Given the description of an element on the screen output the (x, y) to click on. 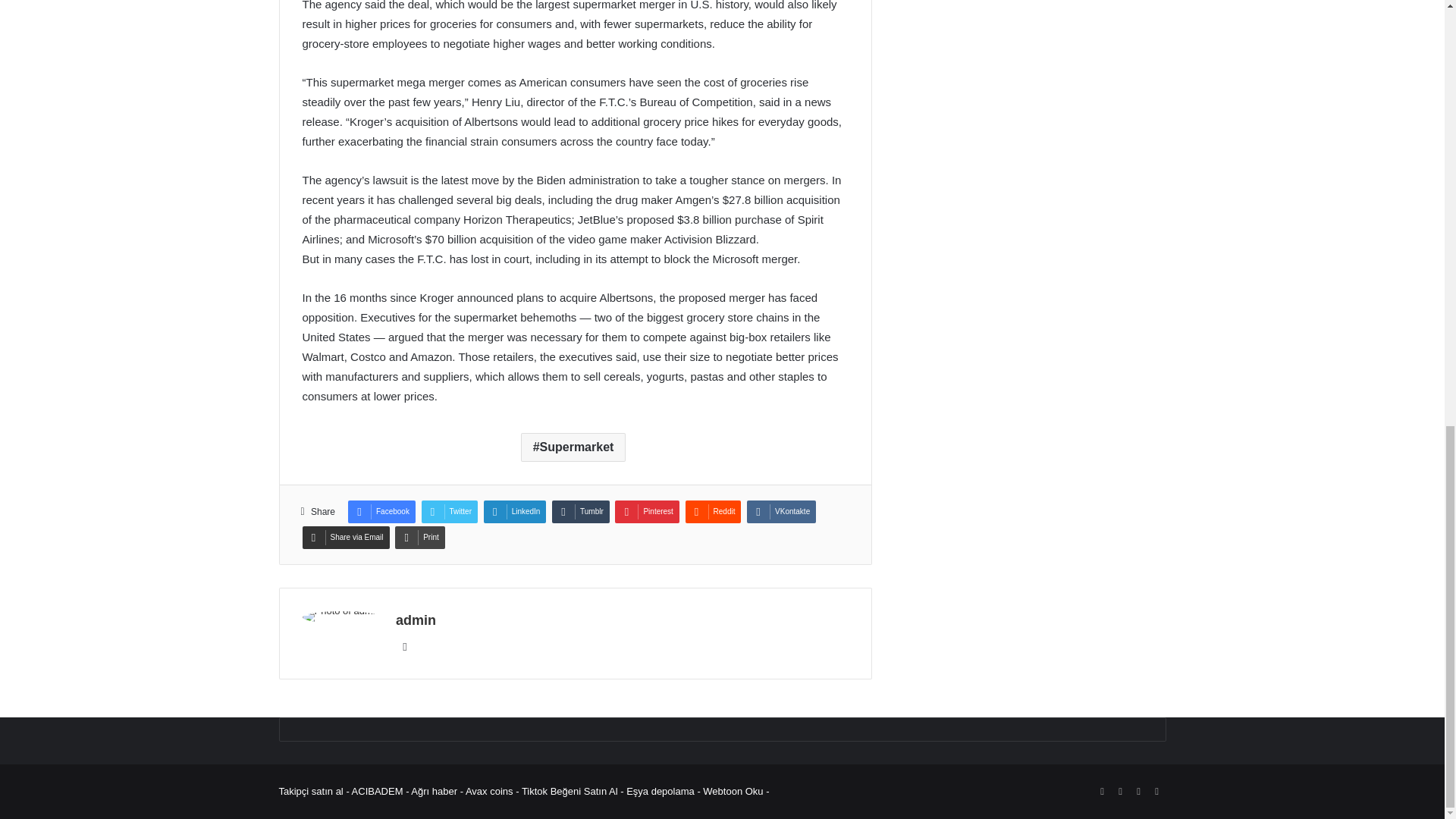
Facebook (380, 511)
Pinterest (646, 511)
LinkedIn (515, 511)
Share via Email (344, 537)
Print (419, 537)
Reddit (713, 511)
VKontakte (780, 511)
Supermarket (573, 447)
Twitter (449, 511)
Tumblr (580, 511)
